Given the description of an element on the screen output the (x, y) to click on. 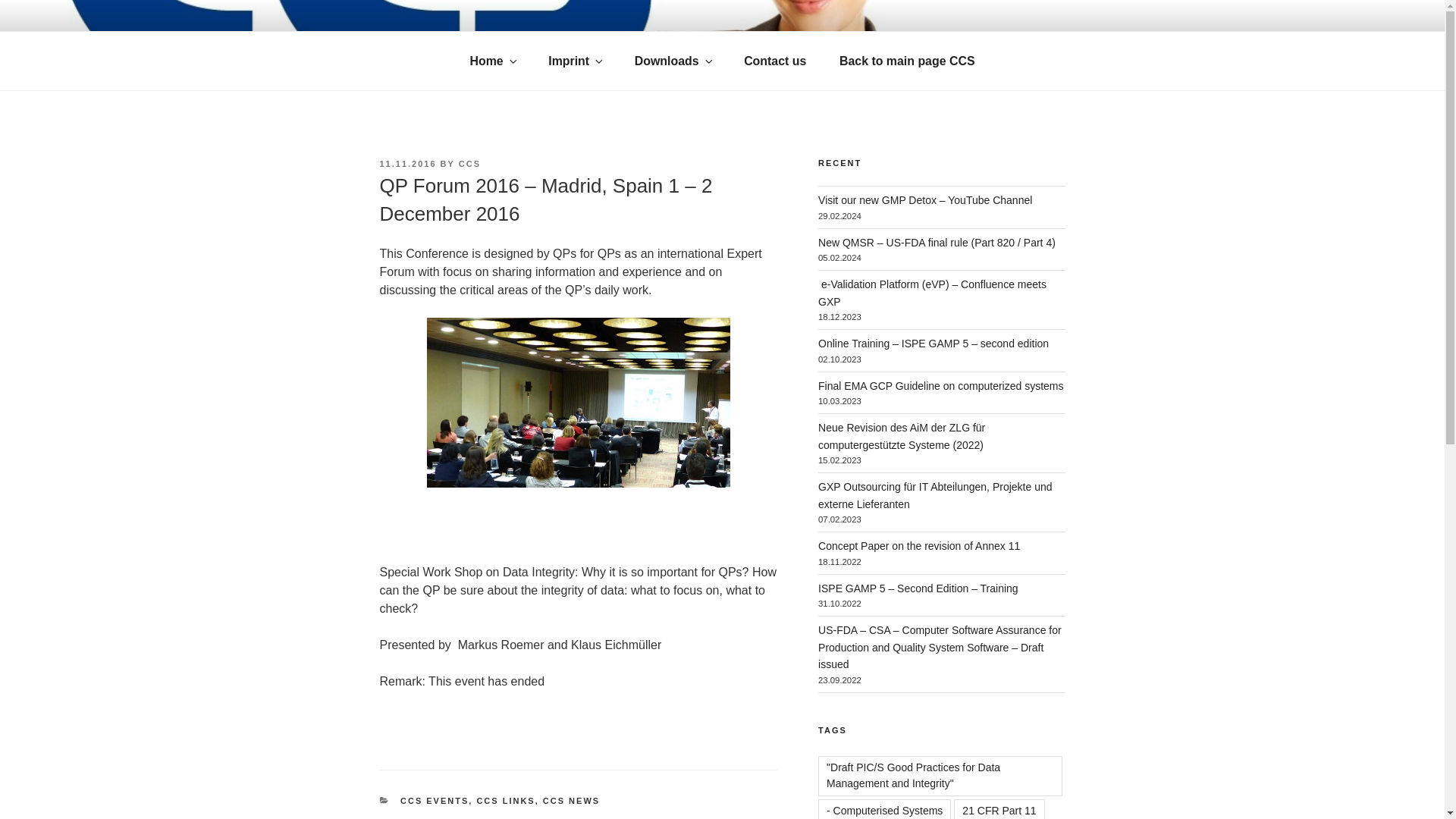
Downloads (673, 61)
Final EMA GCP Guideline on computerized systems (940, 386)
21 CFR Part 11 (998, 809)
CCS NEWS (571, 800)
- Computerised Systems (884, 809)
Contact us (775, 61)
Back to main page CCS (907, 61)
Concept Paper on the revision of Annex 11 (919, 545)
CCS LINKS (505, 800)
Imprint (573, 61)
Home (492, 61)
CCS EVENTS (434, 800)
11.11.2016 (406, 163)
CCS (469, 163)
